Given the description of an element on the screen output the (x, y) to click on. 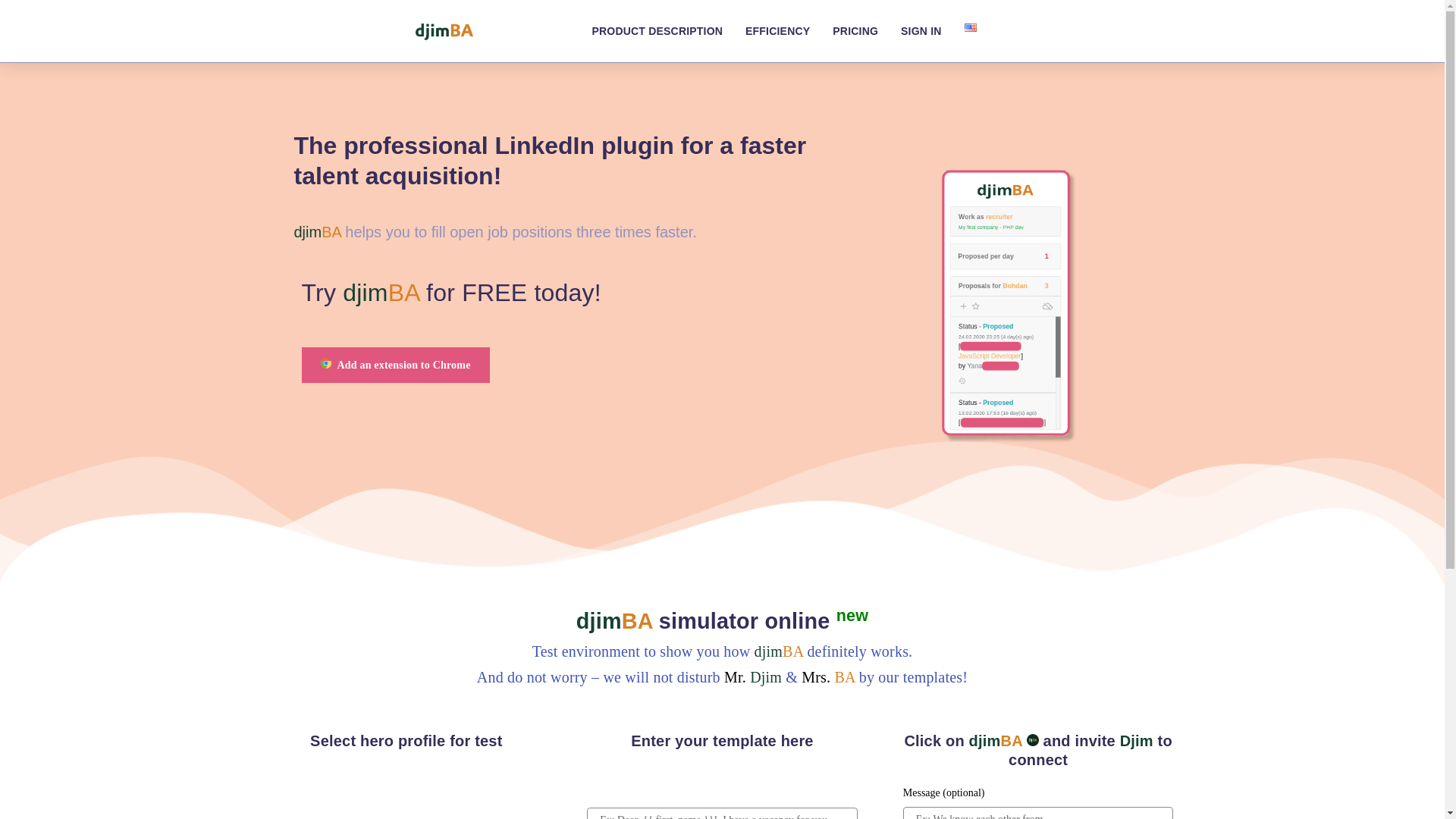
PRICING (855, 31)
PRODUCT DESCRIPTION (656, 31)
SIGN IN (921, 31)
EFFICIENCY (777, 31)
Add an extension to Chrome (395, 365)
English (969, 27)
